Given the description of an element on the screen output the (x, y) to click on. 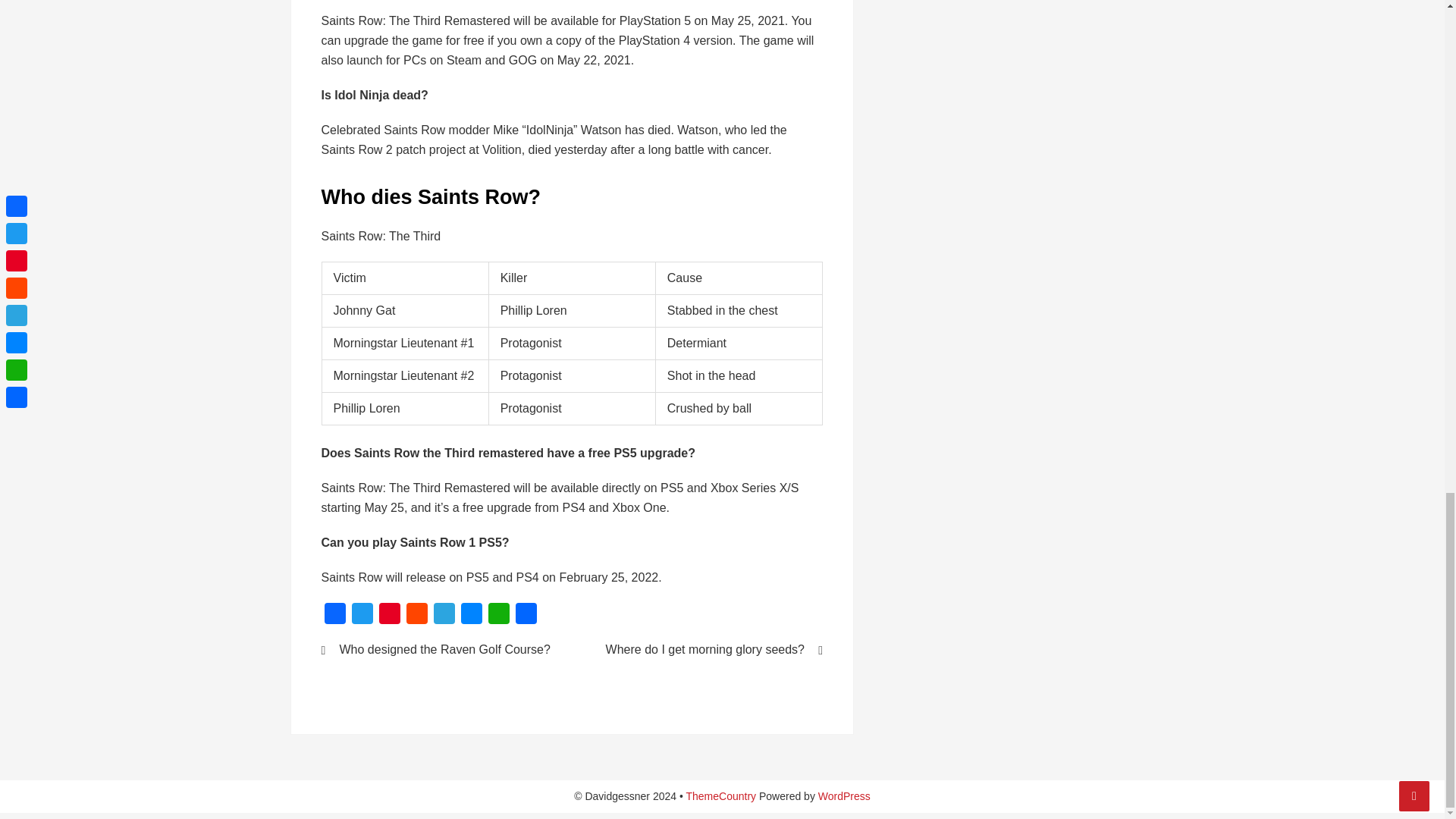
ThemeCountry (720, 796)
Pinterest (389, 616)
Telegram (444, 616)
Reddit (416, 616)
WhatsApp (498, 616)
Facebook (335, 616)
Who designed the Raven Golf Course? (436, 649)
Messenger (471, 616)
BasePress - The best free WordPress blog theme for WordPress (720, 796)
Pinterest (389, 616)
Twitter (362, 616)
Facebook (335, 616)
WhatsApp (498, 616)
Messenger (471, 616)
WordPress (844, 796)
